Given the description of an element on the screen output the (x, y) to click on. 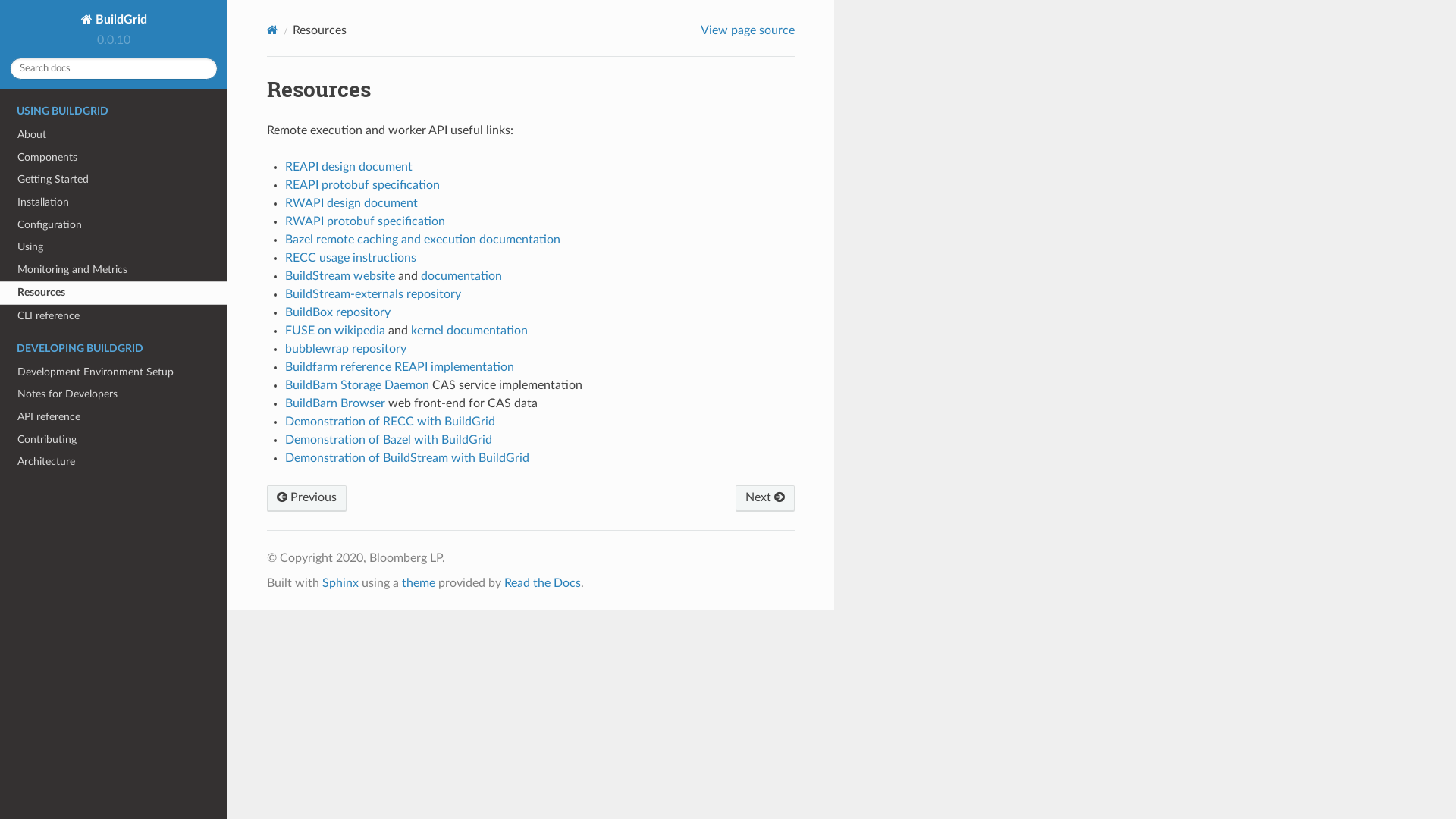
Notes for Developers Element type: text (113, 393)
View page source Element type: text (747, 30)
RECC usage instructions Element type: text (350, 257)
Demonstration of RECC with BuildGrid Element type: text (390, 421)
BuildGrid Element type: text (112, 18)
Sphinx Element type: text (340, 583)
Installation Element type: text (113, 202)
Resources Element type: text (113, 293)
documentation Element type: text (461, 275)
Contributing Element type: text (113, 439)
REAPI protobuf specification Element type: text (362, 184)
Getting Started Element type: text (113, 179)
Demonstration of BuildStream with BuildGrid Element type: text (407, 457)
Components Element type: text (113, 157)
Architecture Element type: text (113, 461)
Demonstration of Bazel with BuildGrid Element type: text (388, 439)
CLI reference Element type: text (113, 315)
Read the Docs Element type: text (542, 583)
RWAPI design document Element type: text (351, 203)
Previous Element type: text (306, 498)
API reference Element type: text (113, 416)
bubblewrap repository Element type: text (345, 348)
Buildfarm reference REAPI implementation Element type: text (399, 366)
REAPI design document Element type: text (348, 166)
BuildStream-externals repository Element type: text (373, 294)
BuildBarn Storage Daemon Element type: text (357, 385)
theme Element type: text (418, 583)
Next Element type: text (764, 498)
remote caching and execution documentation Element type: text (438, 239)
BuildBarn Browser Element type: text (335, 403)
kernel documentation Element type: text (469, 330)
About Element type: text (113, 134)
BuildStream website Element type: text (340, 275)
Development Environment Setup Element type: text (113, 371)
FUSE on wikipedia Element type: text (335, 330)
Using Element type: text (113, 246)
Monitoring and Metrics Element type: text (113, 269)
Configuration Element type: text (113, 224)
BuildBox repository Element type: text (337, 312)
RWAPI protobuf specification Element type: text (365, 221)
Bazel Element type: text (299, 239)
